Given the description of an element on the screen output the (x, y) to click on. 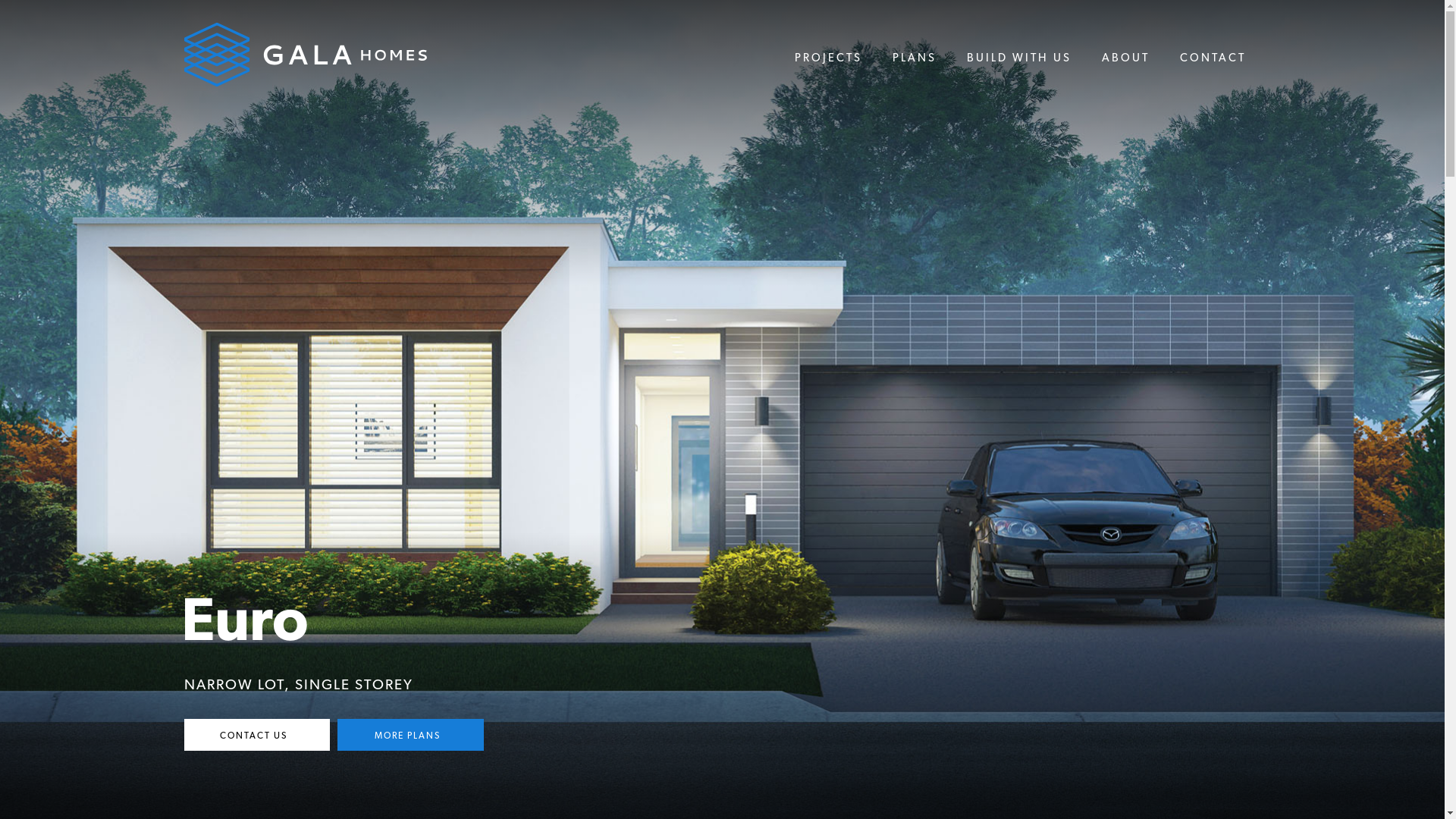
PLANS Element type: text (913, 57)
MORE PLANS Element type: text (410, 734)
CONTACT US Element type: text (256, 734)
BUILD WITH US Element type: text (1017, 57)
CONTACT Element type: text (1212, 57)
NARROW LOT Element type: text (233, 684)
SINGLE STOREY Element type: text (353, 684)
PROJECTS Element type: text (828, 57)
ABOUT Element type: text (1124, 57)
